Given the description of an element on the screen output the (x, y) to click on. 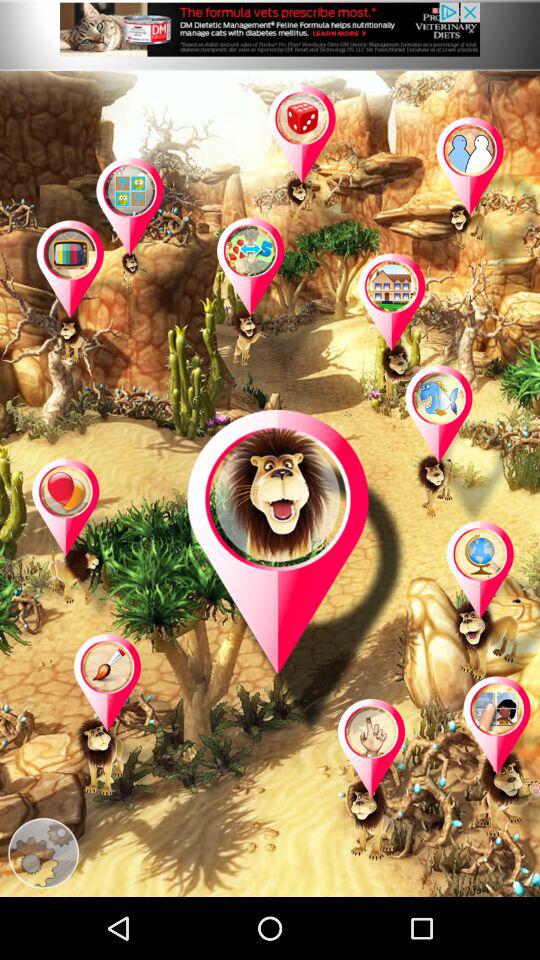
select advertisement (270, 35)
